Given the description of an element on the screen output the (x, y) to click on. 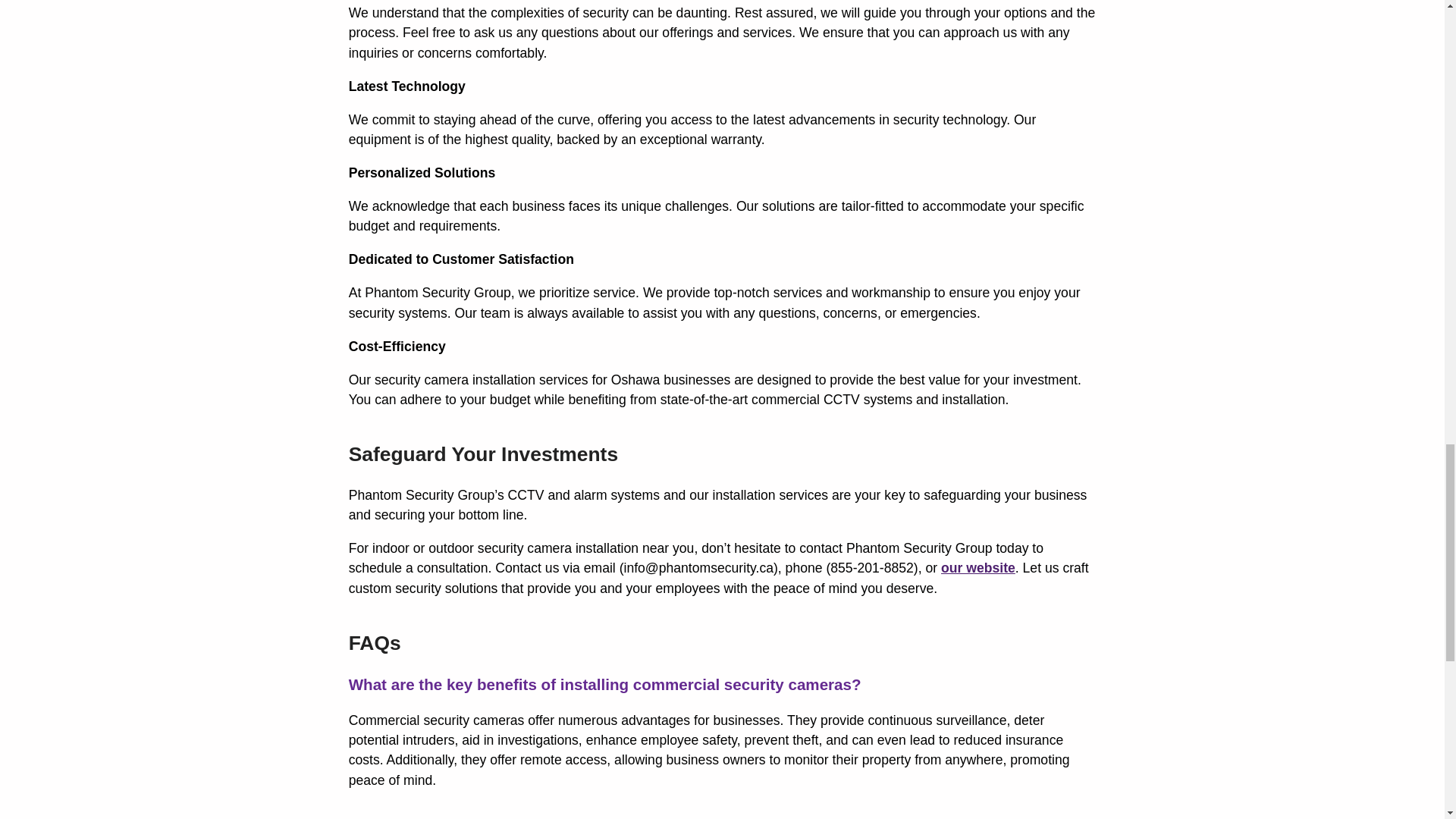
our website (977, 567)
